Given the description of an element on the screen output the (x, y) to click on. 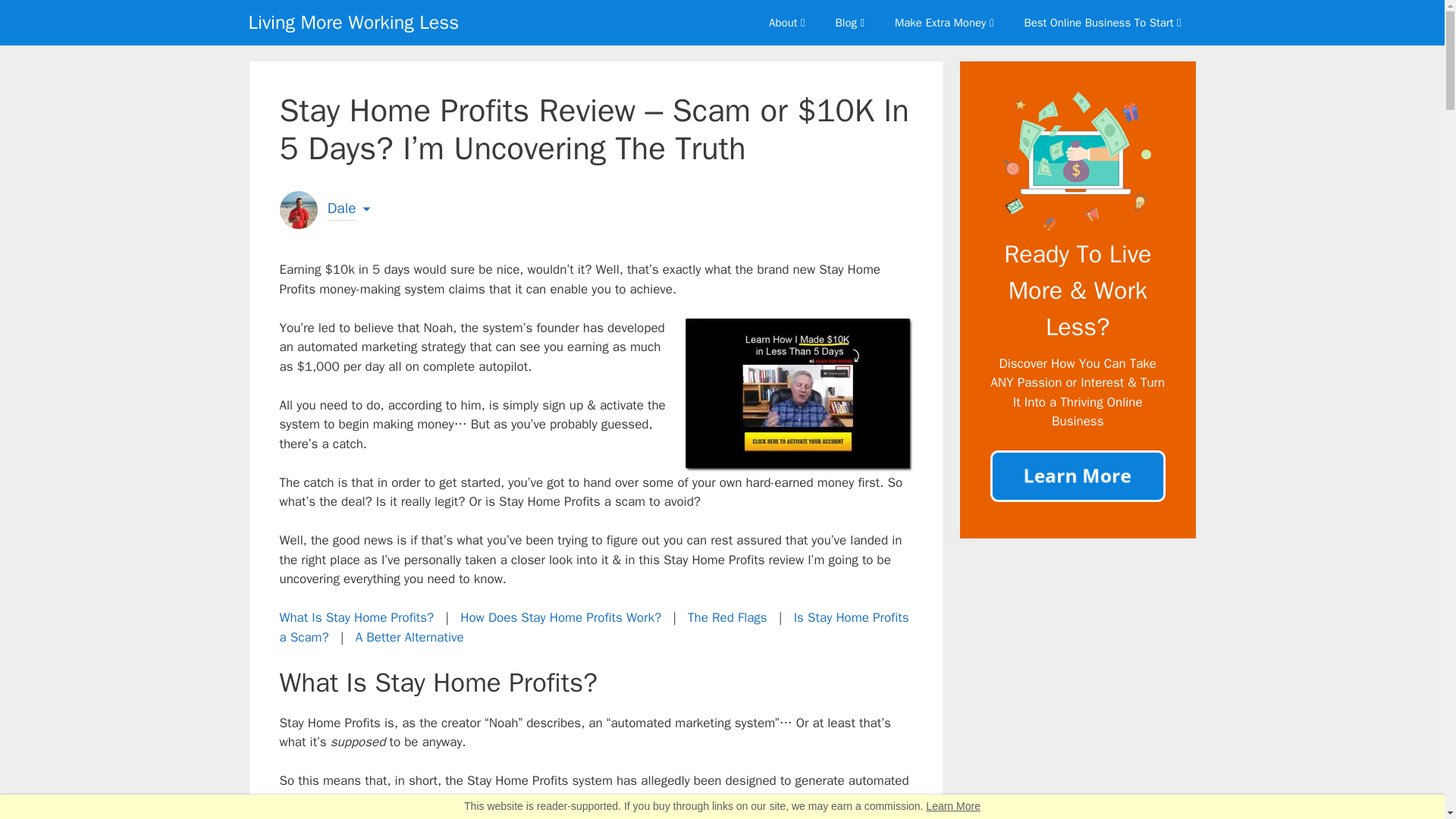
Living More Working Less (354, 22)
A Better Alternative (409, 637)
The Red Flags (727, 617)
Is Stay Home Profits a Scam? (593, 627)
How Does Stay Home Profits Work? (560, 617)
What Is Stay Home Profits? (356, 617)
